Given the description of an element on the screen output the (x, y) to click on. 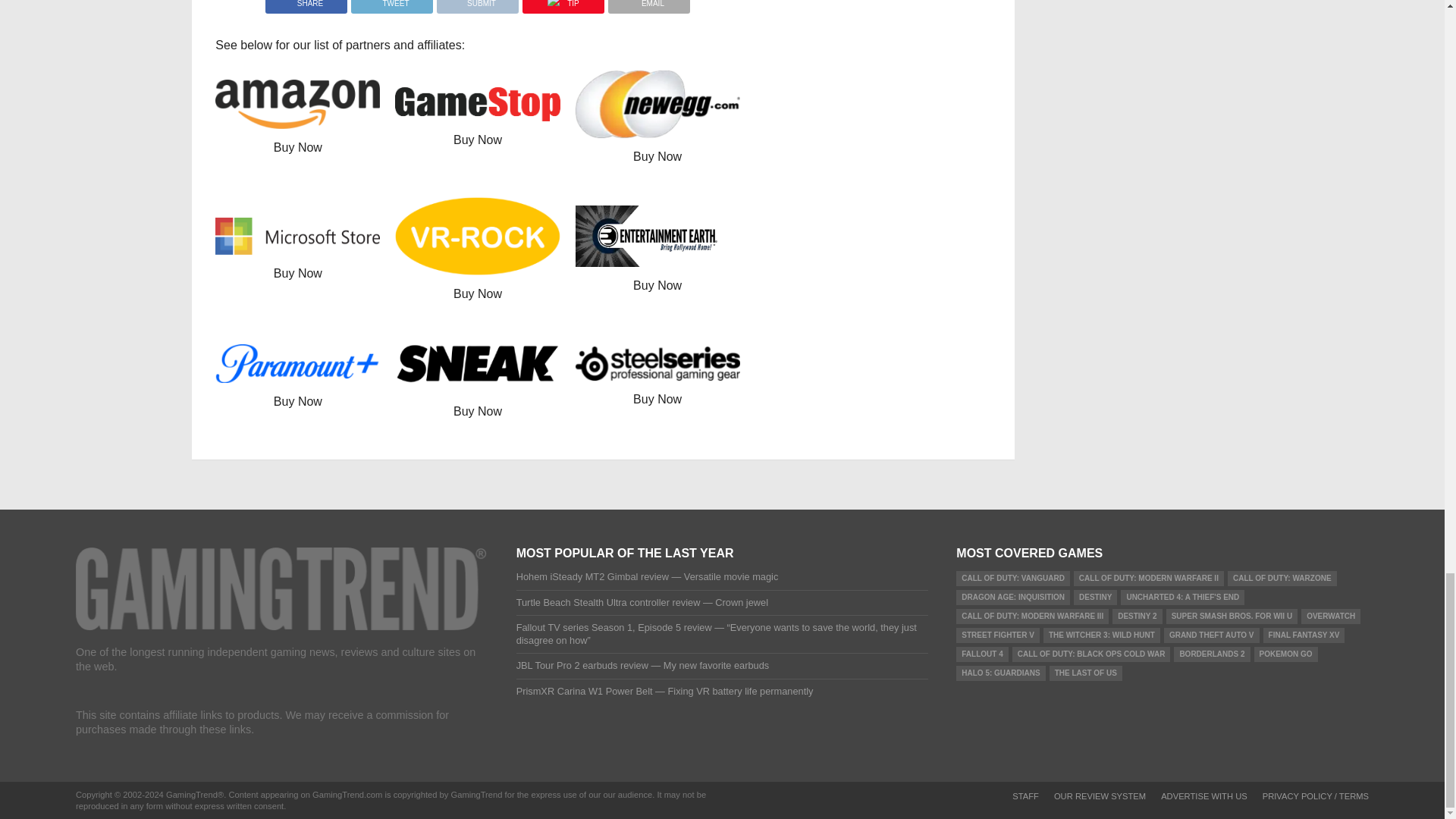
Tweet This Post (391, 2)
Share on Facebook (305, 2)
